Given the description of an element on the screen output the (x, y) to click on. 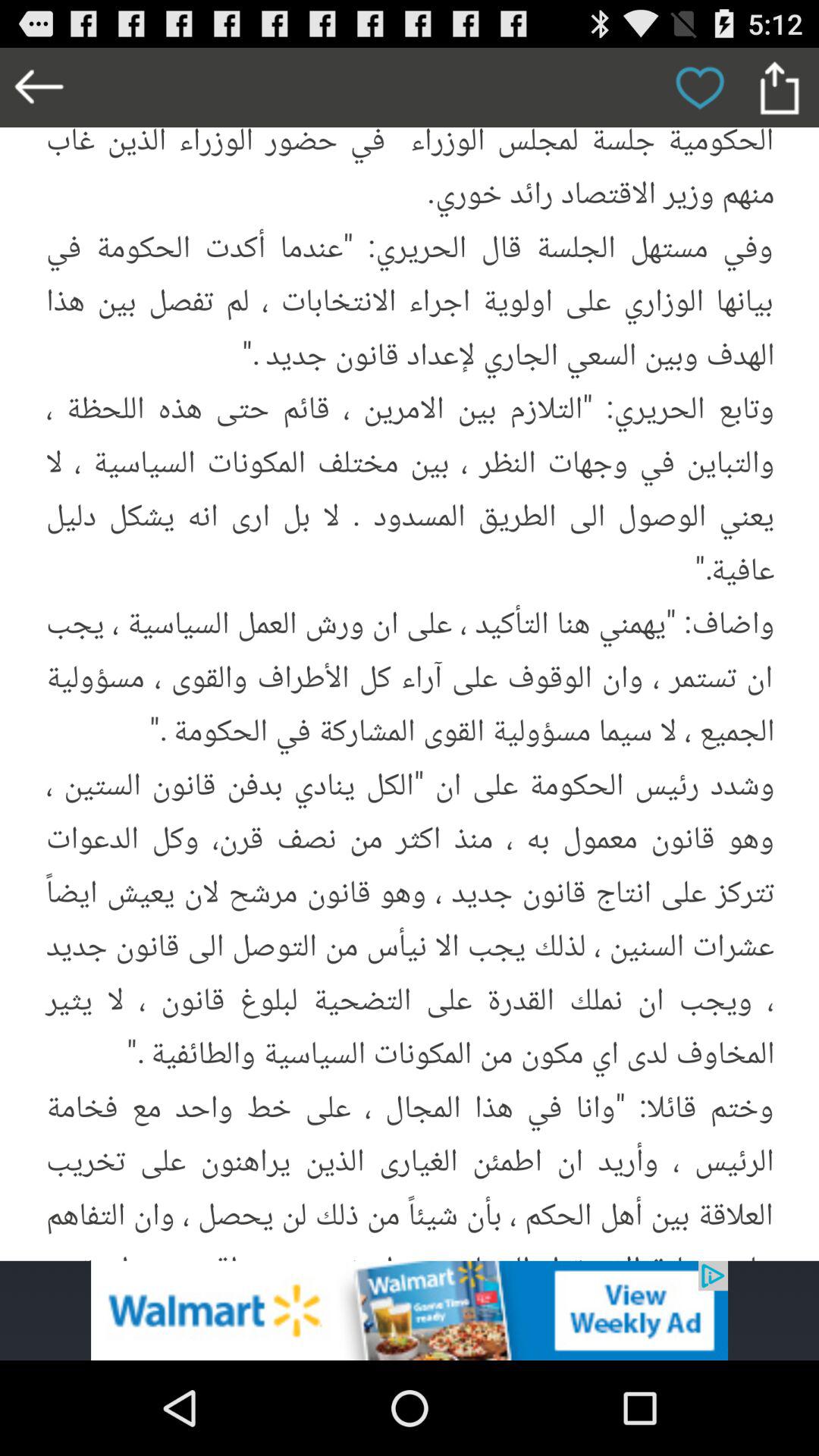
advertisement (409, 1310)
